Given the description of an element on the screen output the (x, y) to click on. 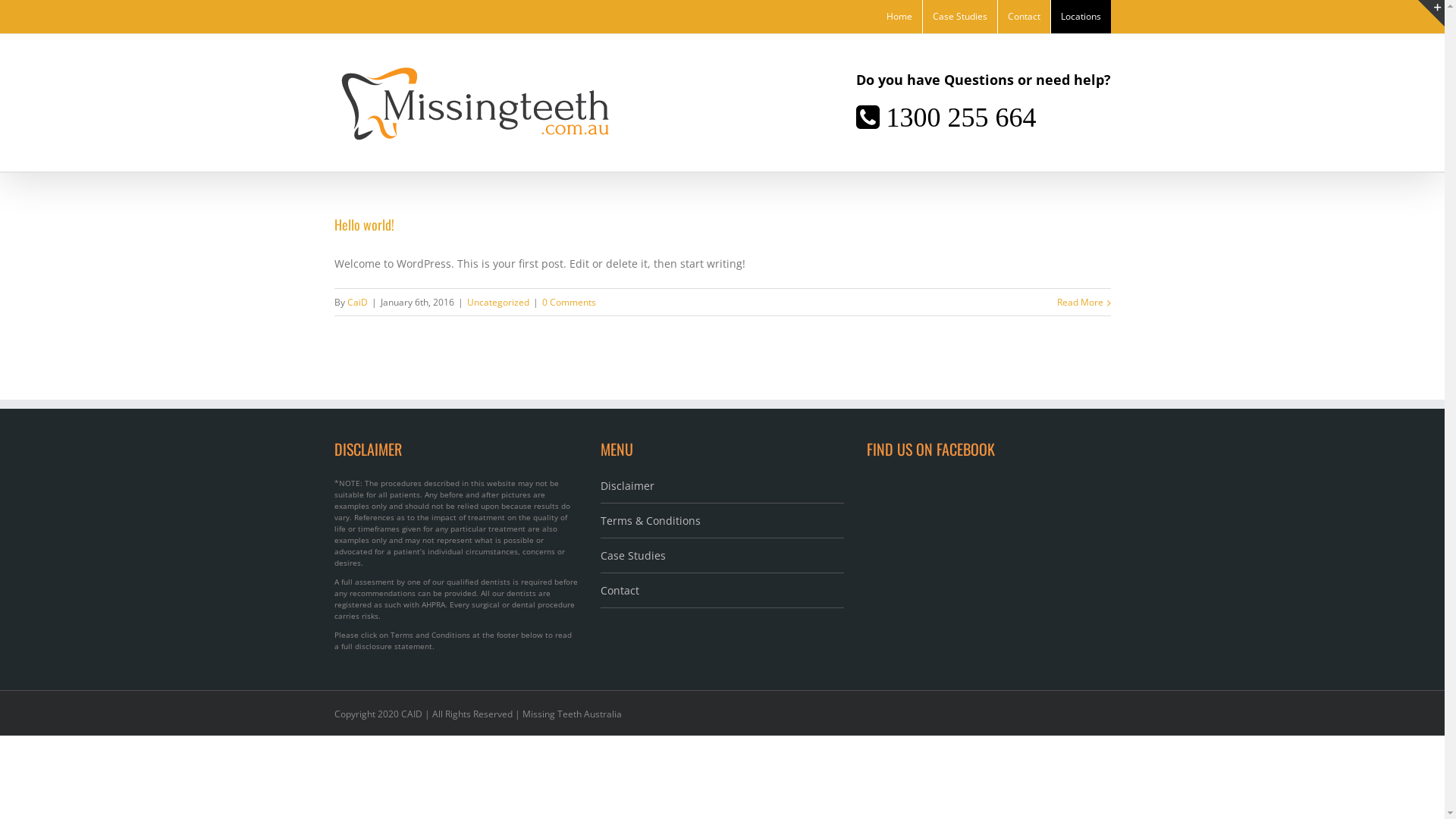
Contact Element type: text (1023, 16)
Read More Element type: text (1080, 301)
Disclaimer Element type: text (722, 490)
CaiD Element type: text (357, 301)
Home Element type: text (899, 16)
Hello world! Element type: text (363, 224)
0 Comments Element type: text (568, 301)
Contact Element type: text (722, 590)
Uncategorized Element type: text (498, 301)
Case Studies Element type: text (722, 555)
Terms & Conditions Element type: text (722, 520)
Case Studies Element type: text (959, 16)
Locations Element type: text (1080, 16)
